Given the description of an element on the screen output the (x, y) to click on. 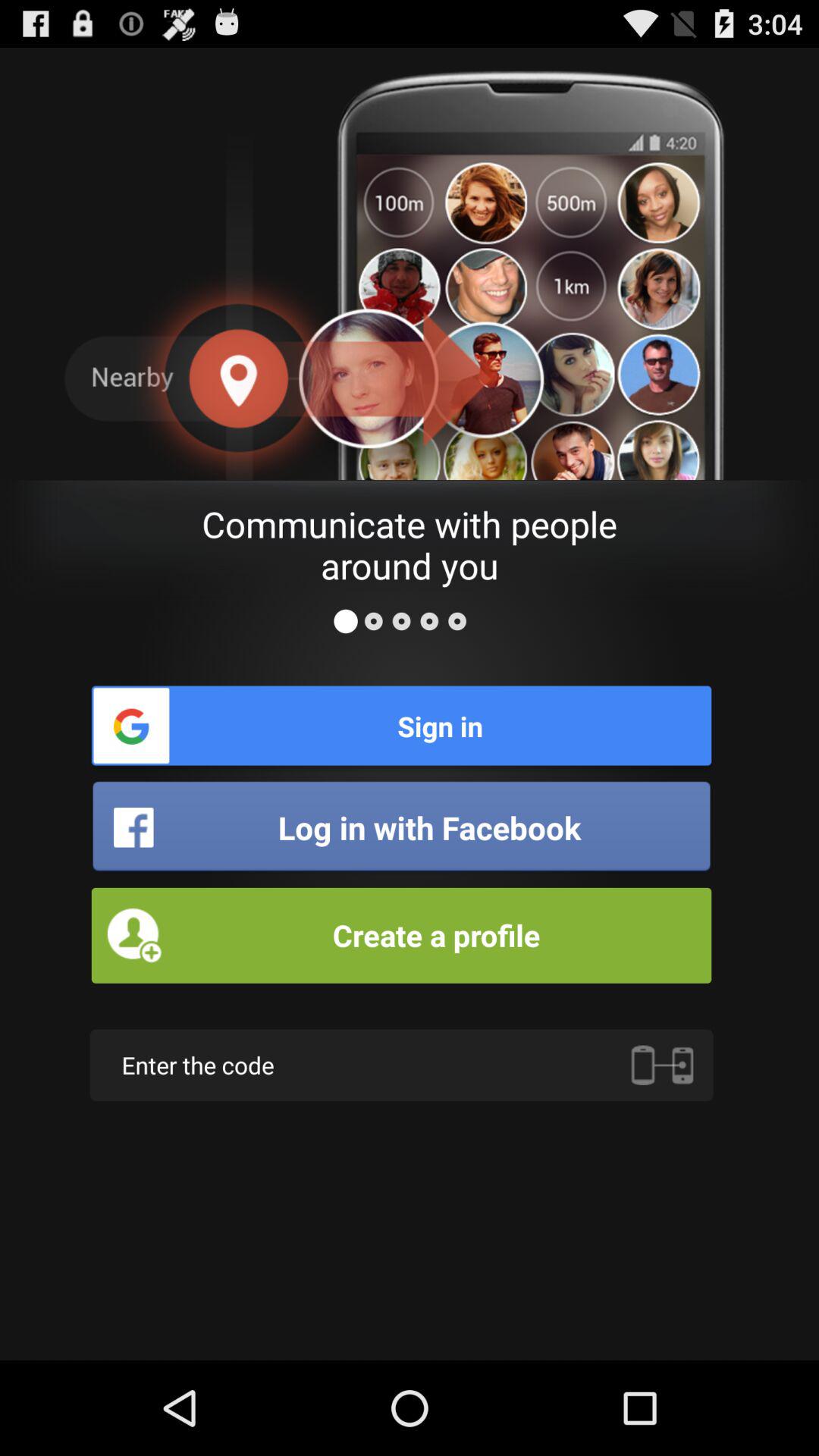
launch item above log in with (401, 725)
